Given the description of an element on the screen output the (x, y) to click on. 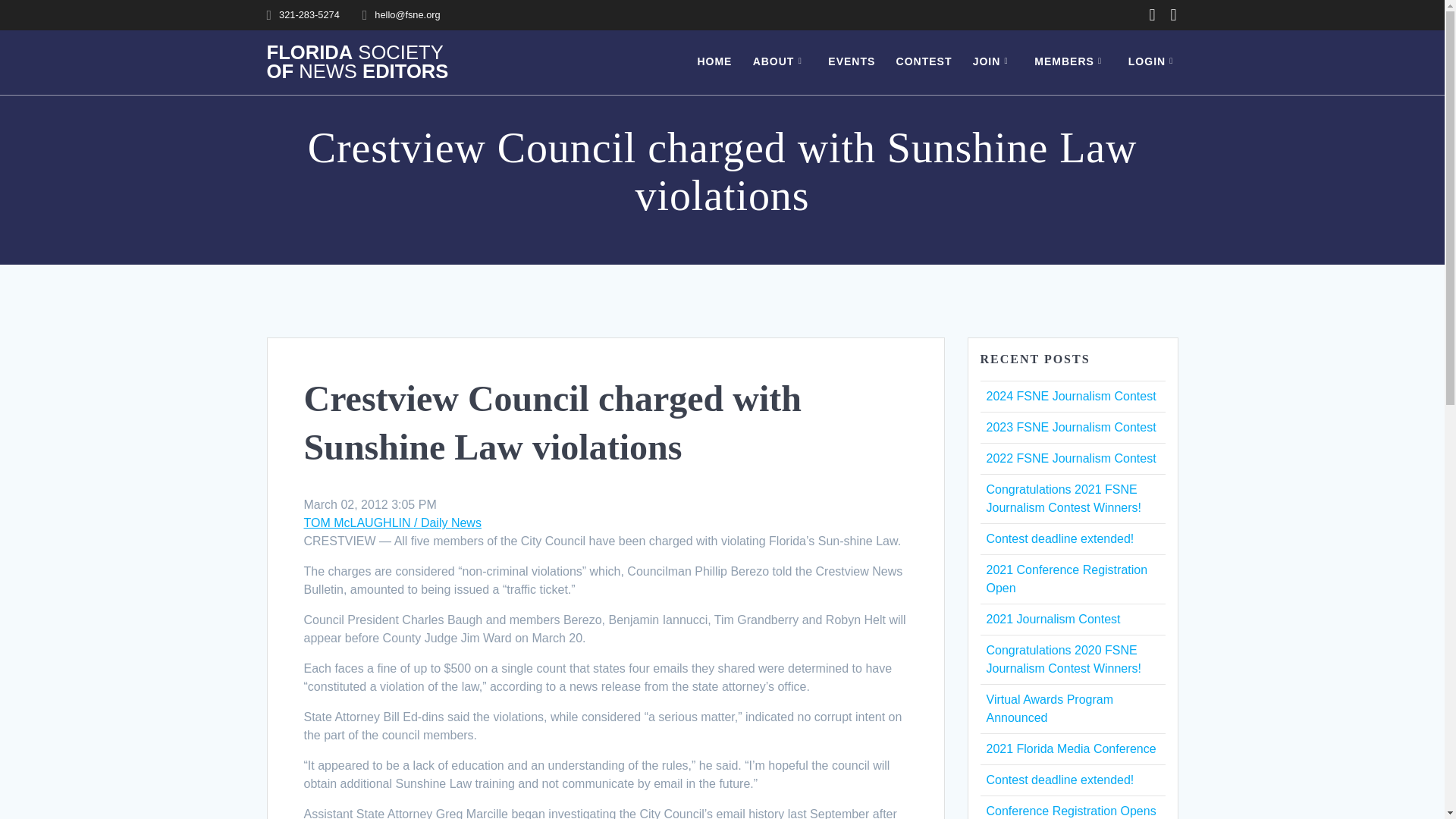
LOGIN (1153, 62)
MEMBERS (1069, 62)
JOIN (992, 62)
Contest deadline extended! (1059, 538)
HOME (714, 62)
2021 Conference Registration Open (1066, 578)
Congratulations 2020 FSNE Journalism Contest Winners! (1063, 658)
CONTEST (924, 62)
2024 FSNE Journalism Contest (1070, 395)
2023 FSNE Journalism Contest (1070, 427)
